Given the description of an element on the screen output the (x, y) to click on. 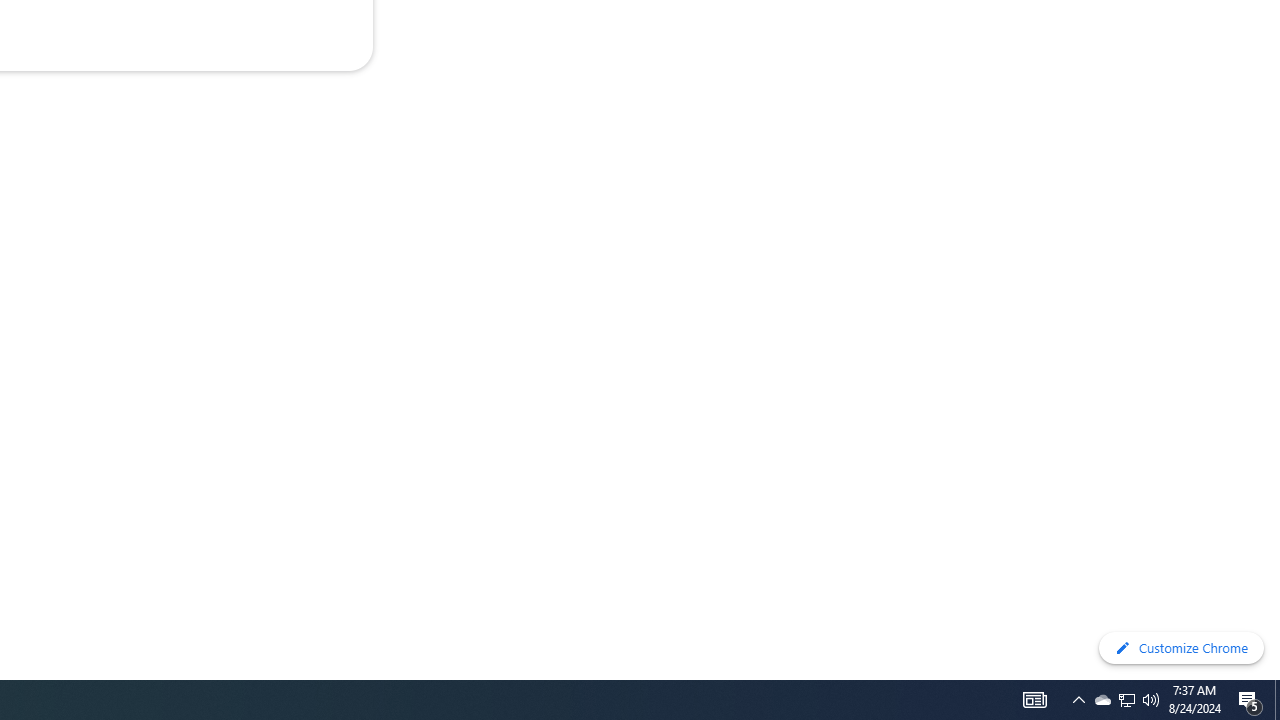
Customize Chrome (1181, 647)
